Given the description of an element on the screen output the (x, y) to click on. 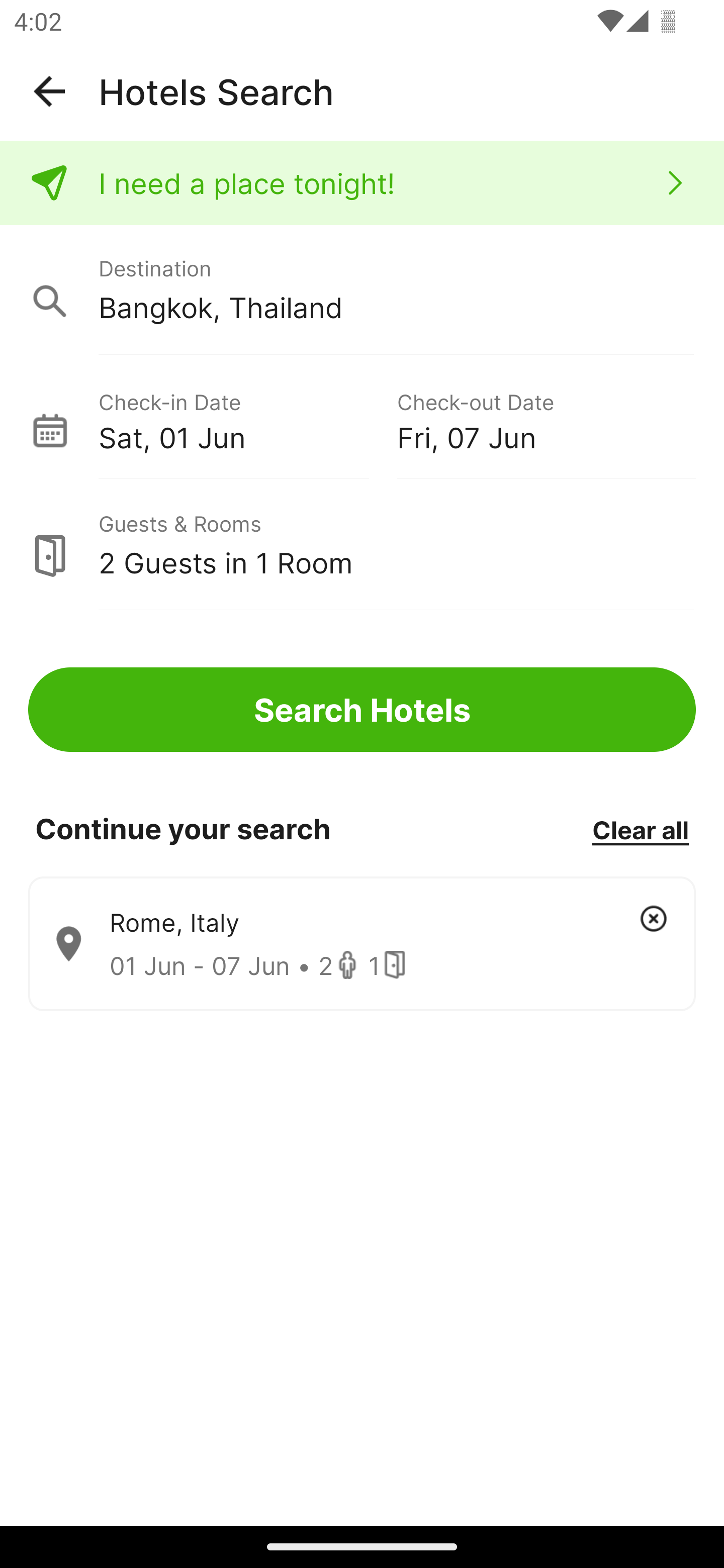
I need a place tonight! (362, 183)
Destination Bangkok, Thailand (362, 290)
Check-in Date Sat, 01 Jun (247, 418)
Check-out Date Fri, 07 Jun (546, 418)
Guests & Rooms 2 Guests in 1 Room (362, 545)
Search Hotels (361, 709)
Clear all (640, 829)
Rome, Italy 01 Jun - 07 Jun • 2  1  (361, 943)
